Given the description of an element on the screen output the (x, y) to click on. 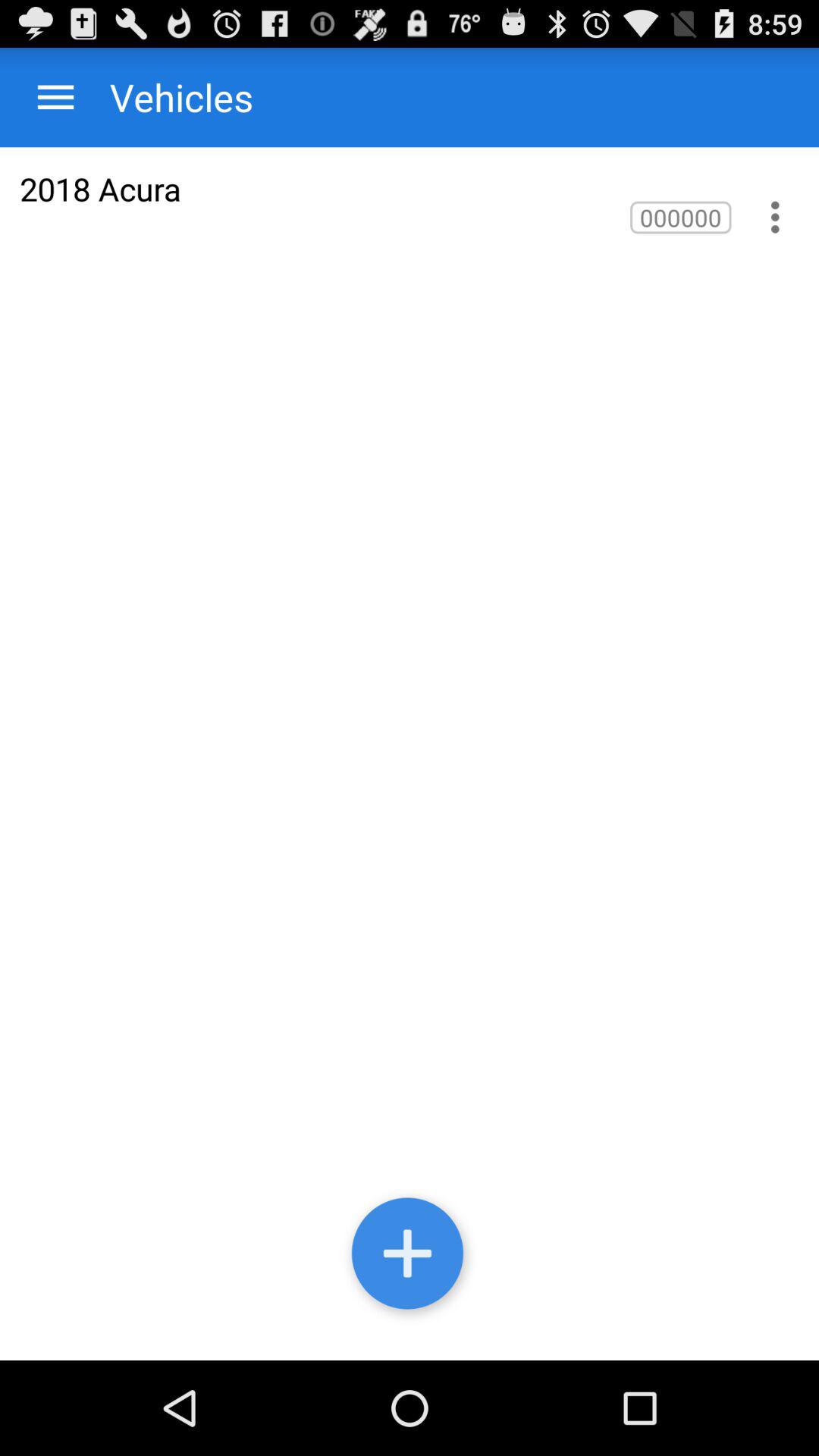
view options (775, 217)
